Given the description of an element on the screen output the (x, y) to click on. 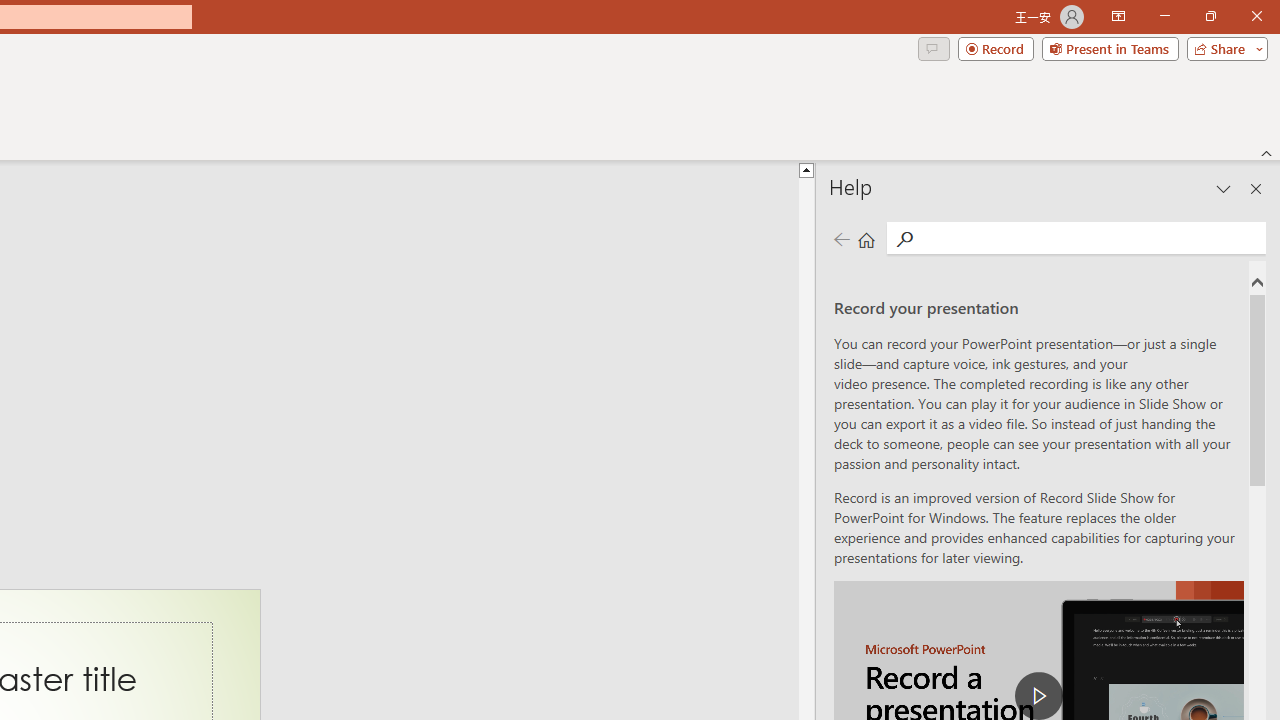
Search (1089, 237)
Previous page (841, 238)
play Record a Presentation (1038, 695)
Search (904, 238)
